Given the description of an element on the screen output the (x, y) to click on. 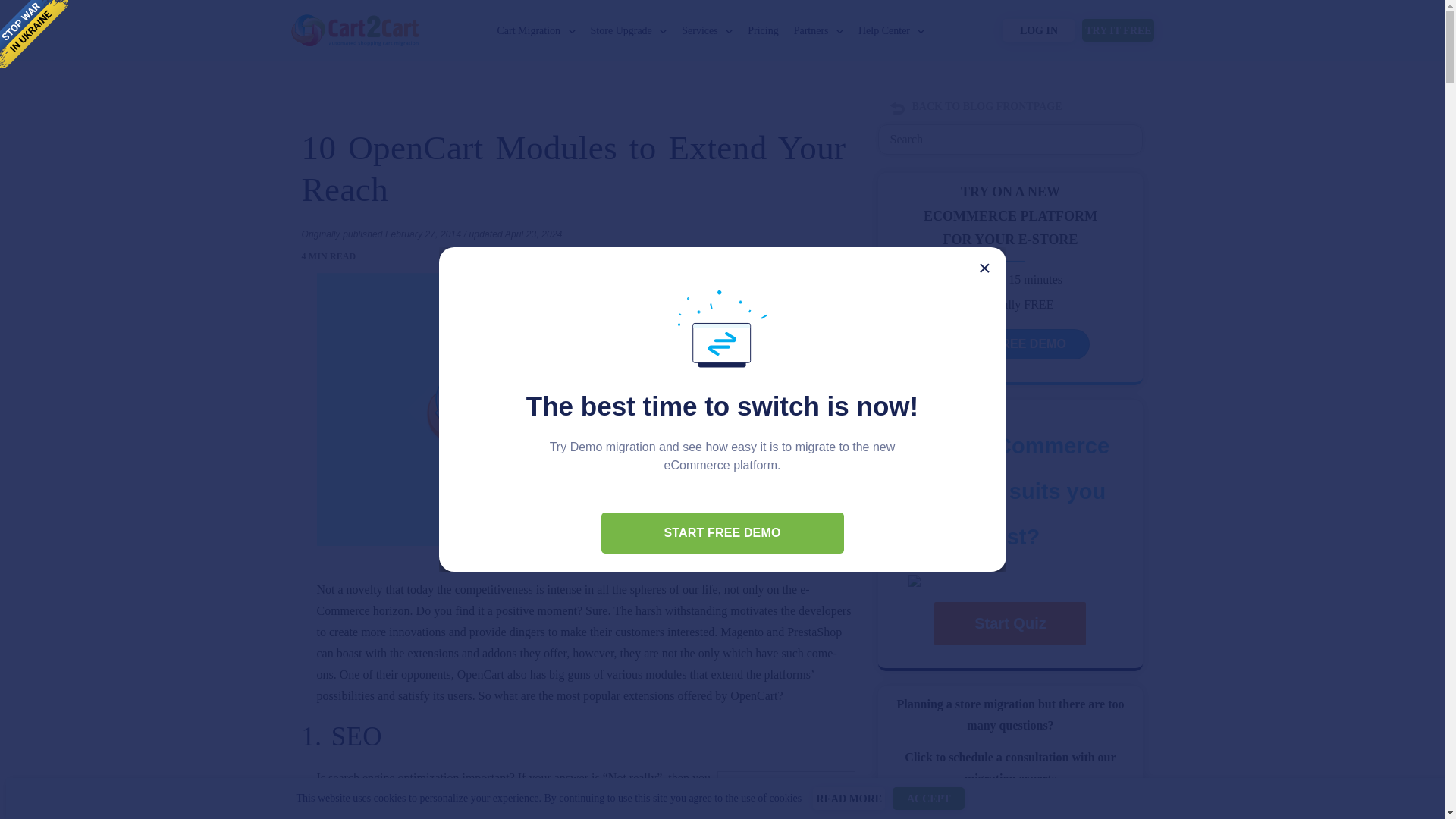
SEO (786, 795)
START FREE DEMO (721, 532)
Click here to get to the main page (354, 19)
click here to start (721, 532)
Cart Migration (528, 30)
Back to Cart2Cart main page (354, 19)
Try it free (1117, 29)
Sign In (1038, 29)
